Given the description of an element on the screen output the (x, y) to click on. 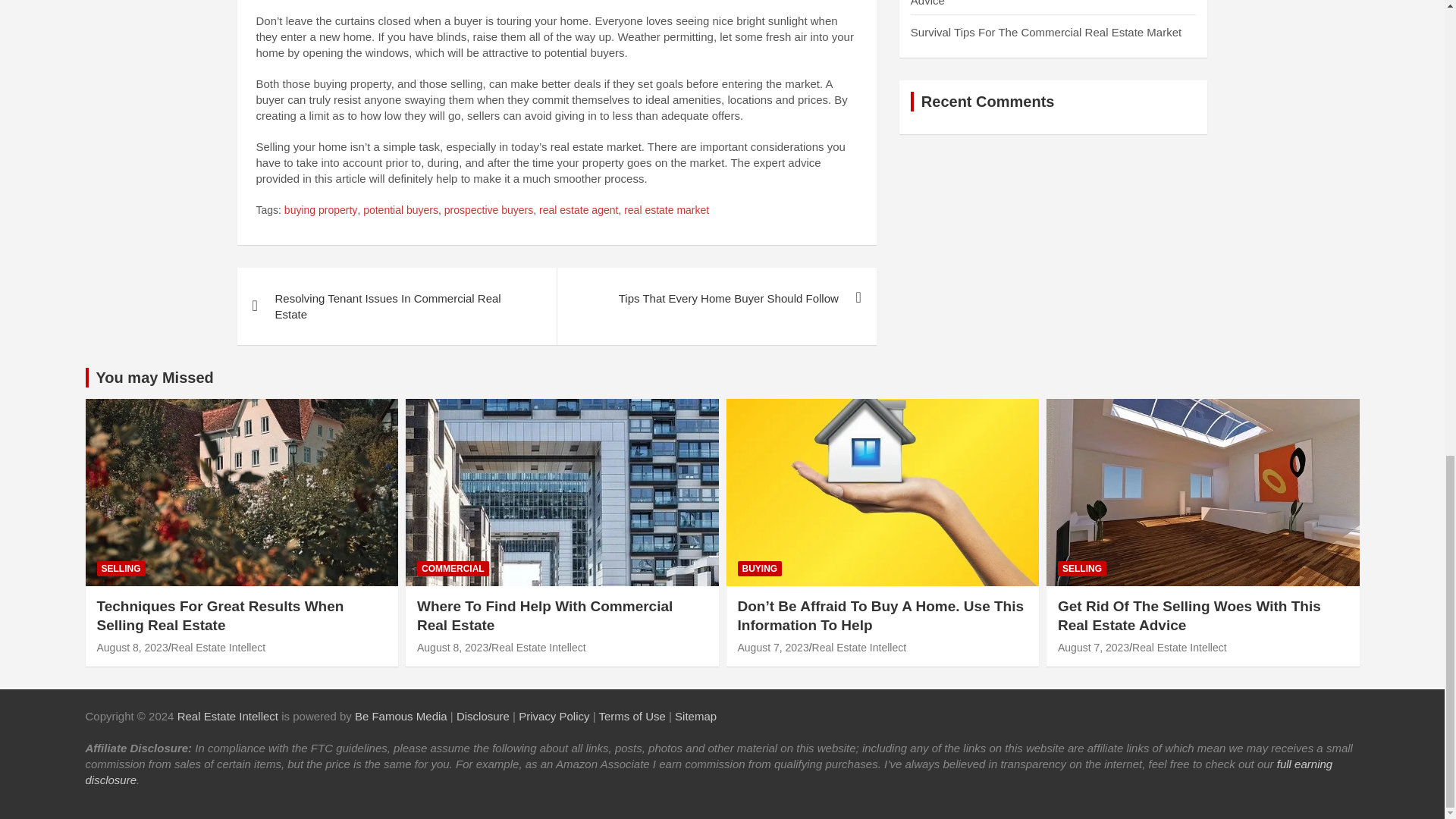
Where To Find Help With Commercial Real Estate (544, 615)
Techniques For Great Results When Selling Real Estate (220, 615)
real estate market (666, 210)
BUYING (758, 569)
Tips That Every Home Buyer Should Follow (716, 298)
Real Estate Intellect (218, 647)
SELLING (121, 569)
potential buyers (400, 210)
Real Estate Intellect (539, 647)
Real Estate Intellect (227, 716)
